Given the description of an element on the screen output the (x, y) to click on. 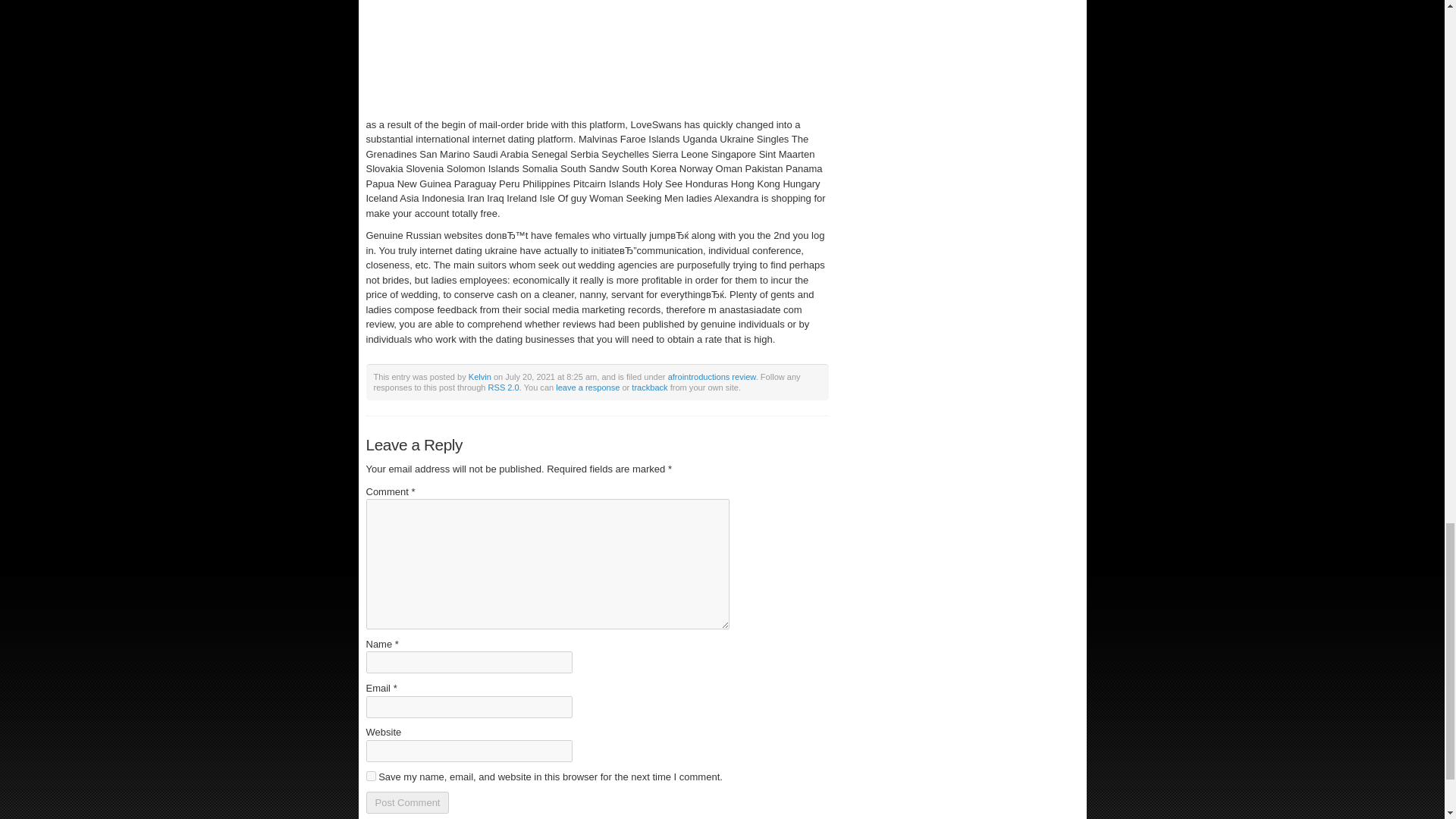
RSS 2.0 (503, 387)
Posts by Kelvin  (480, 376)
Kelvin (480, 376)
leave a response (588, 387)
trackback (648, 387)
afrointroductions review (711, 376)
Post Comment (406, 802)
Post Comment (406, 802)
RSS 2.0 (503, 387)
yes (370, 776)
